Given the description of an element on the screen output the (x, y) to click on. 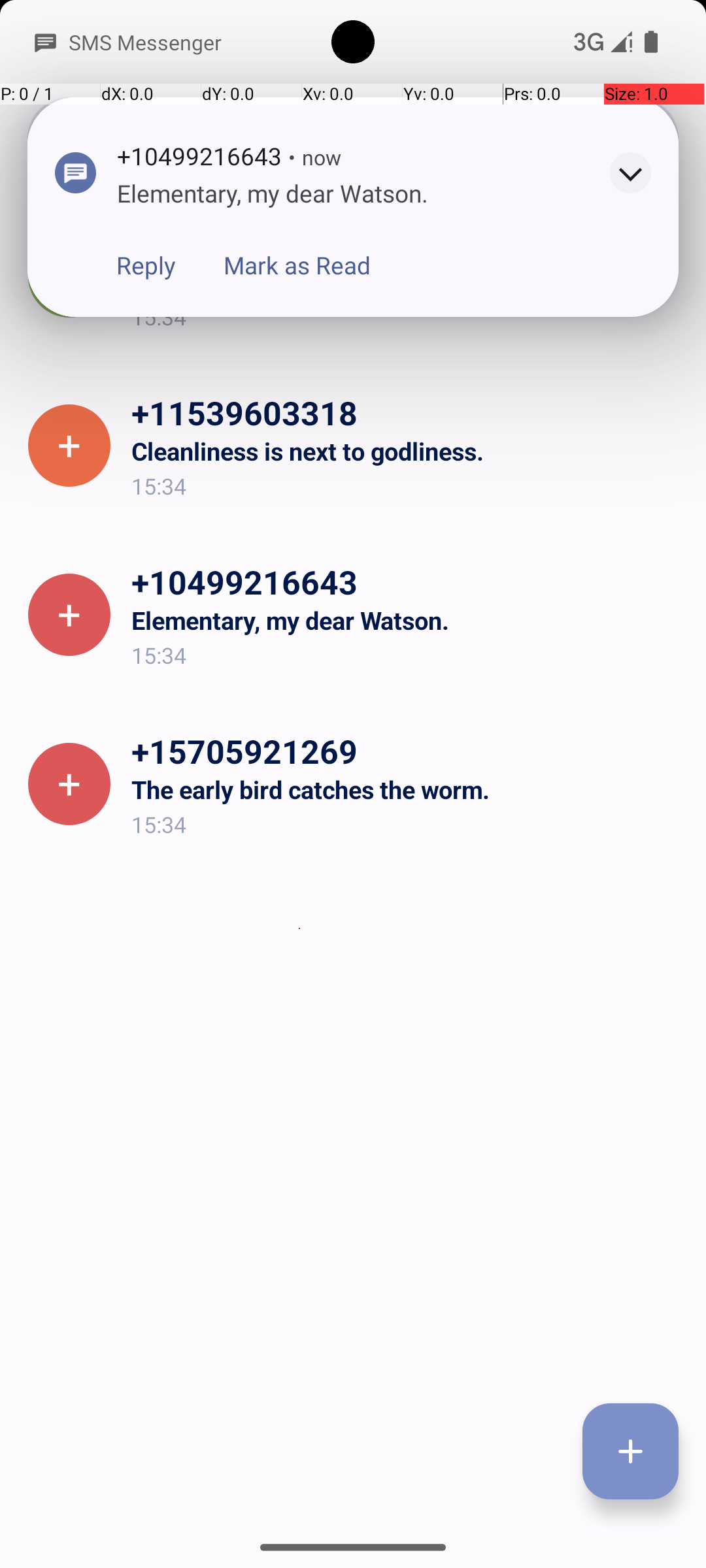
+15713179390 Element type: android.widget.TextView (408, 242)
Don't forget to water the plants while I'm away. Element type: android.widget.TextView (408, 281)
+11539603318 Element type: android.widget.TextView (408, 412)
Cleanliness is next to godliness. Element type: android.widget.TextView (408, 450)
+10499216643 Element type: android.widget.TextView (408, 581)
Elementary, my dear Watson. Element type: android.widget.TextView (408, 620)
+15705921269 Element type: android.widget.TextView (408, 750)
The early bird catches the worm. Element type: android.widget.TextView (408, 789)
Okay Element type: android.widget.Button (171, 289)
Reply Element type: android.widget.Button (146, 265)
Mark as Read Element type: android.widget.Button (296, 265)
